Given the description of an element on the screen output the (x, y) to click on. 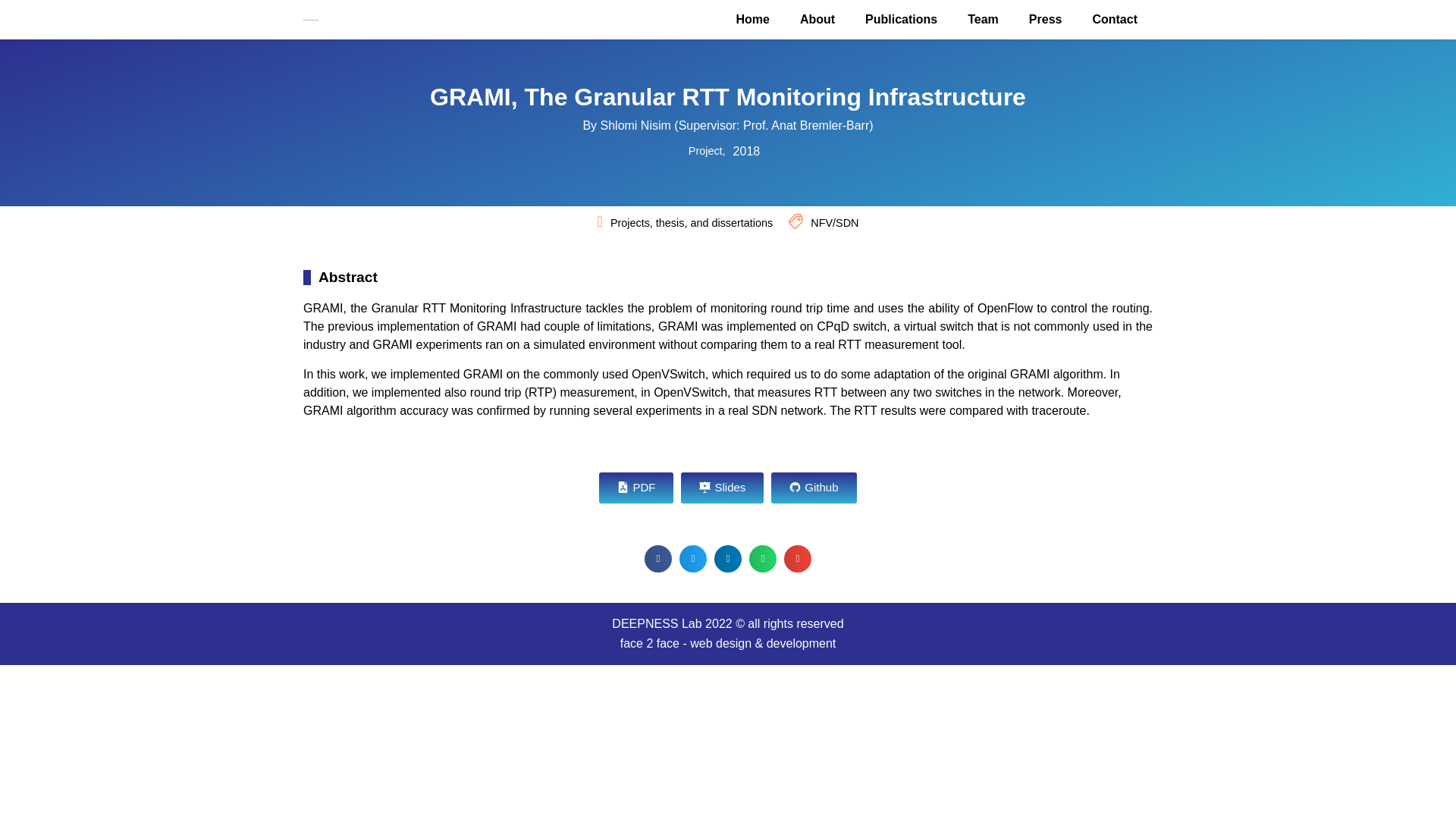
PDF (635, 487)
Home (752, 19)
Press (1045, 19)
Contact (1115, 19)
About (817, 19)
Team (982, 19)
Publications (901, 19)
